Given the description of an element on the screen output the (x, y) to click on. 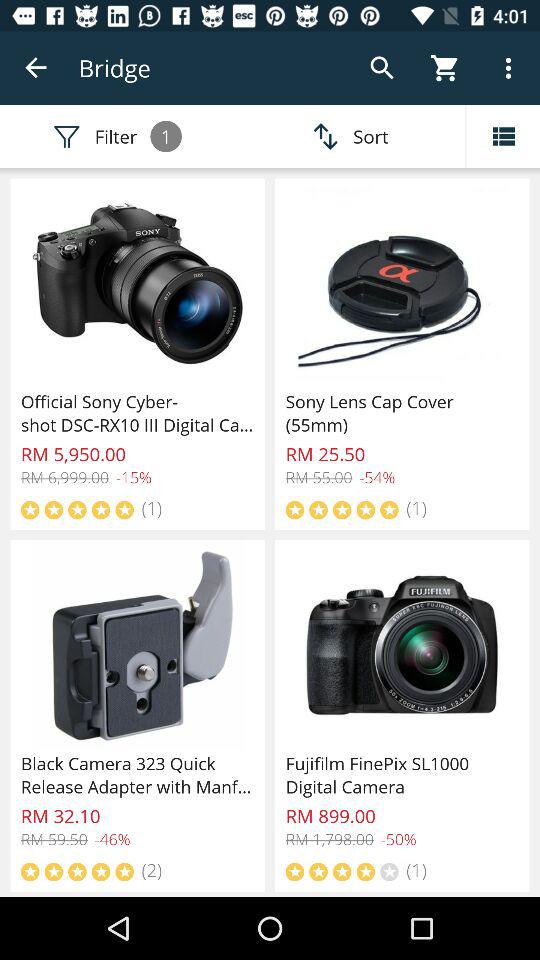
view selection (503, 136)
